Given the description of an element on the screen output the (x, y) to click on. 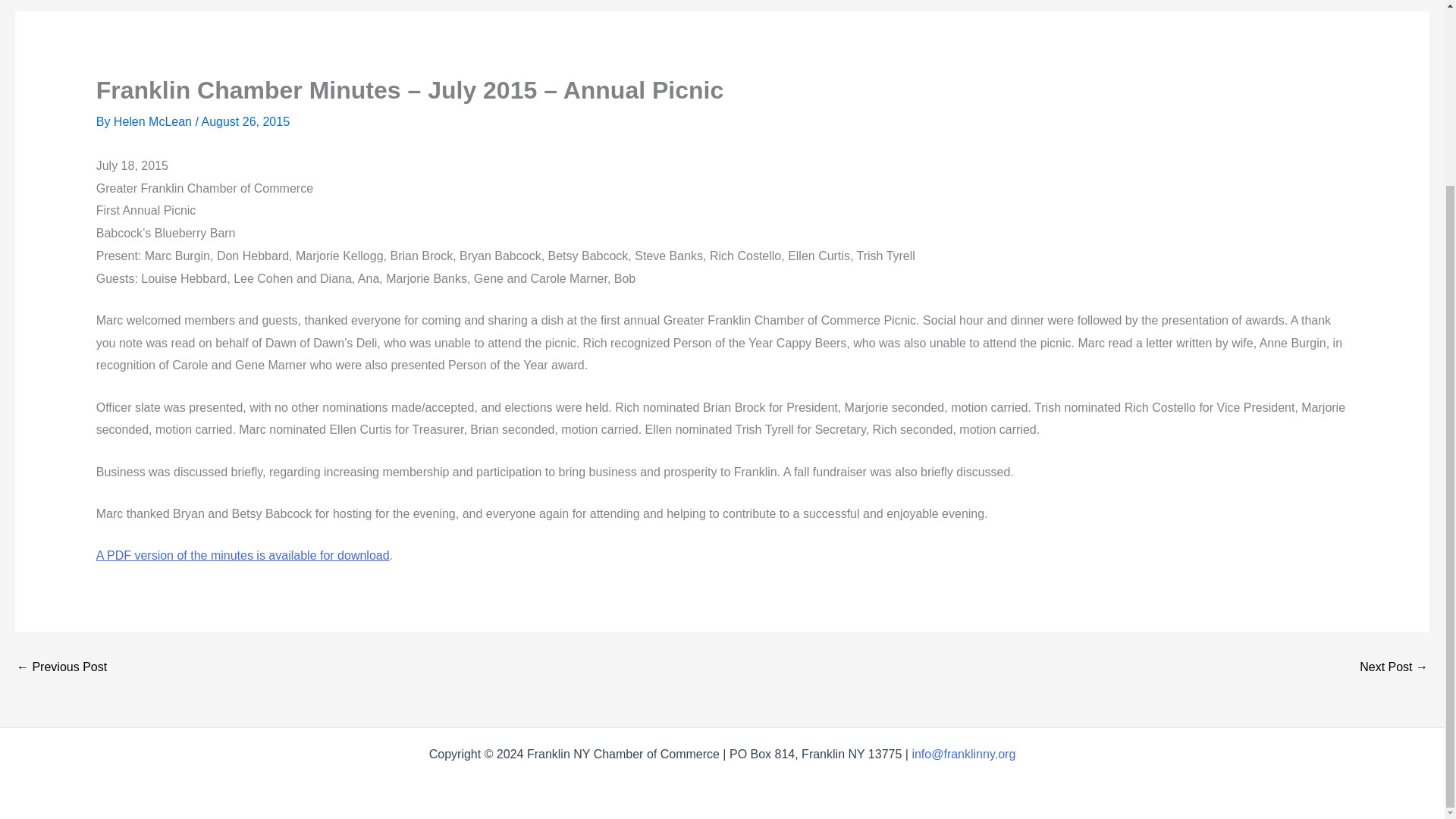
Helen McLean (154, 121)
A PDF version of the minutes is available for download (243, 554)
Franklin Day - August 2015 (61, 666)
View all posts by Helen McLean (154, 121)
